Given the description of an element on the screen output the (x, y) to click on. 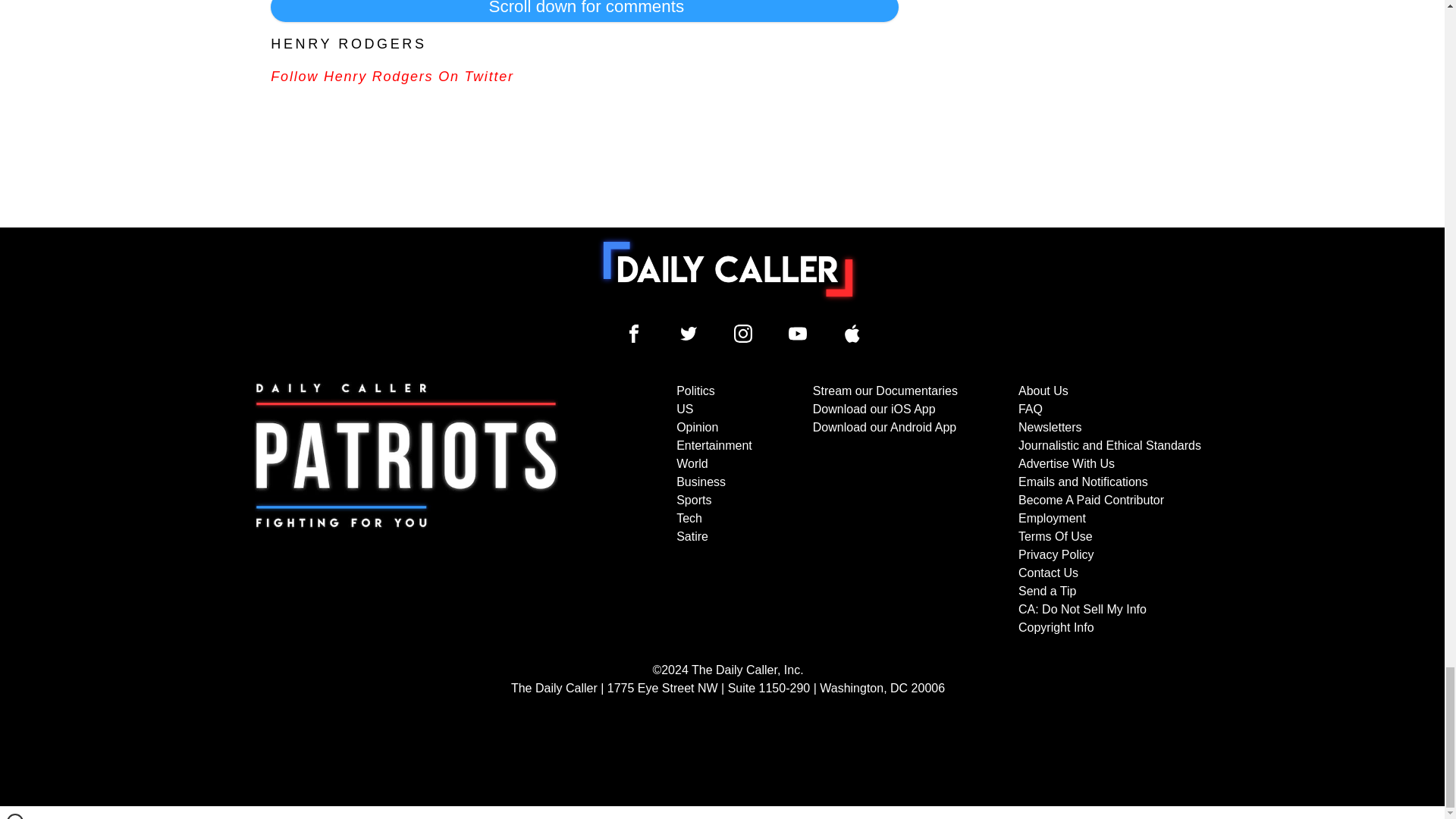
Daily Caller YouTube (797, 333)
Scroll down for comments (584, 10)
Daily Caller Instagram (742, 333)
To home page (727, 268)
Subscribe to The Daily Caller (405, 509)
Daily Caller Facebook (633, 333)
Daily Caller Twitter (688, 333)
Daily Caller YouTube (852, 333)
